Given the description of an element on the screen output the (x, y) to click on. 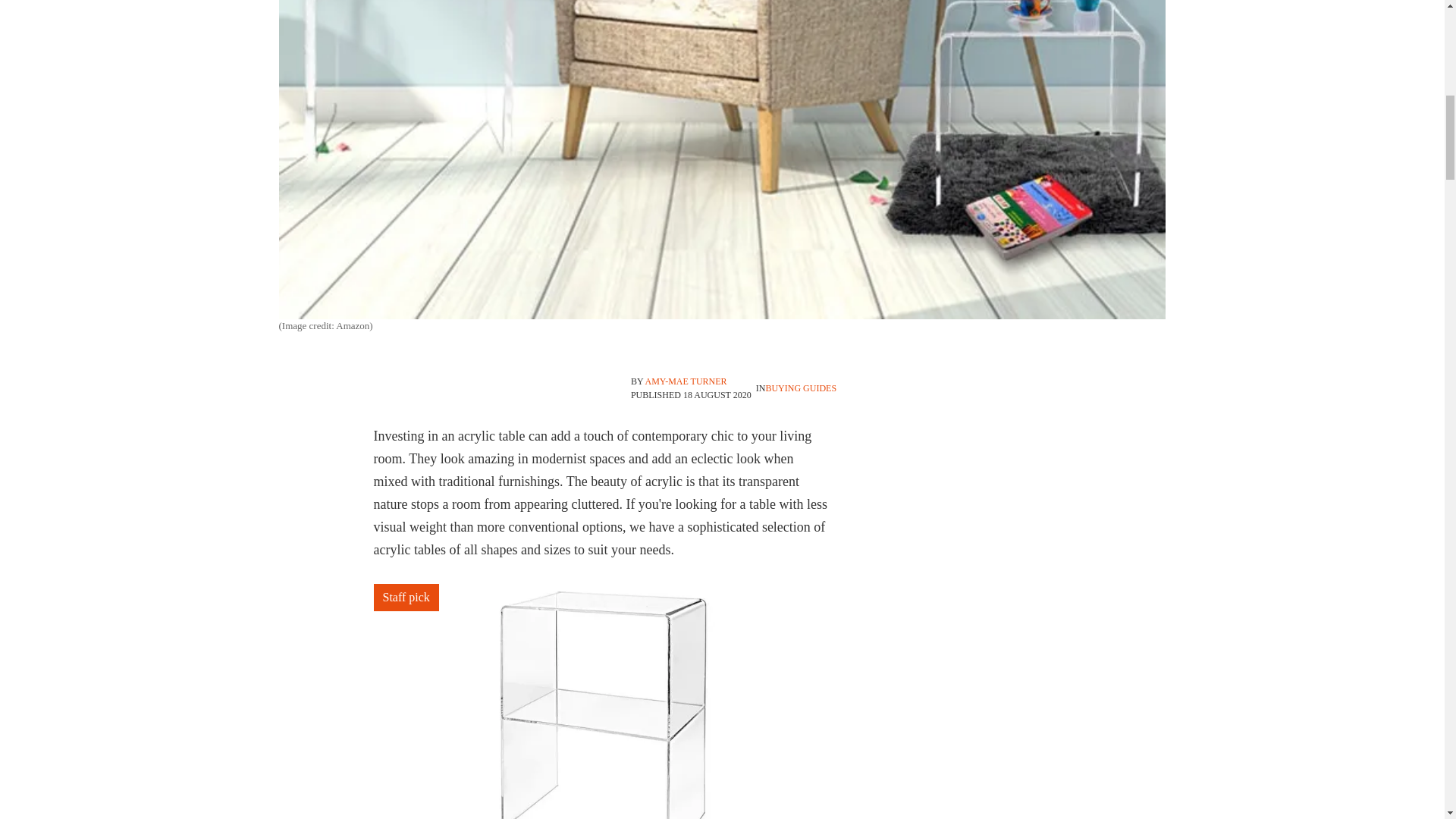
AMY-MAE TURNER (685, 380)
BUYING GUIDES (800, 388)
